Given the description of an element on the screen output the (x, y) to click on. 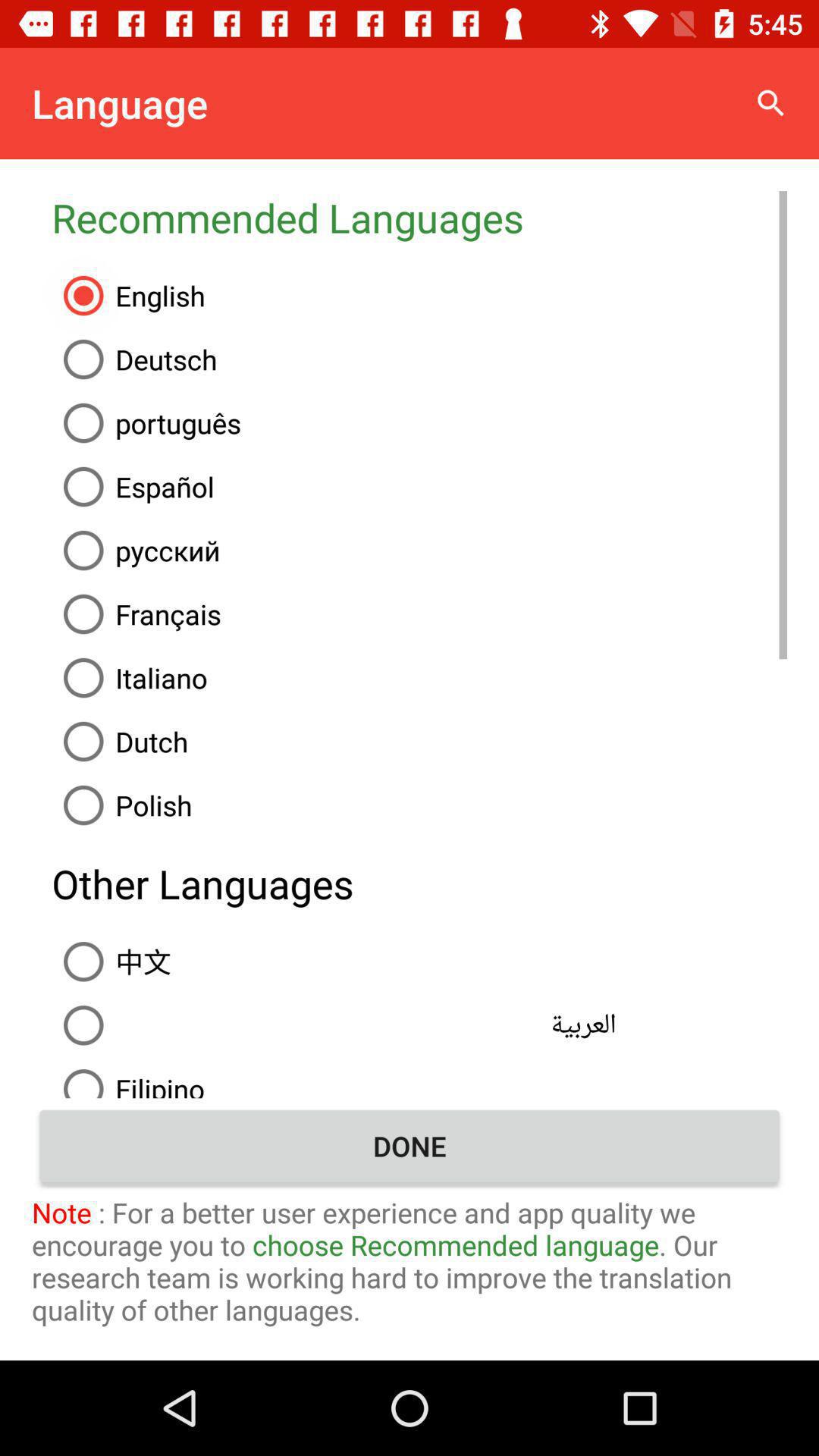
select the item to the right of the language (771, 103)
